Given the description of an element on the screen output the (x, y) to click on. 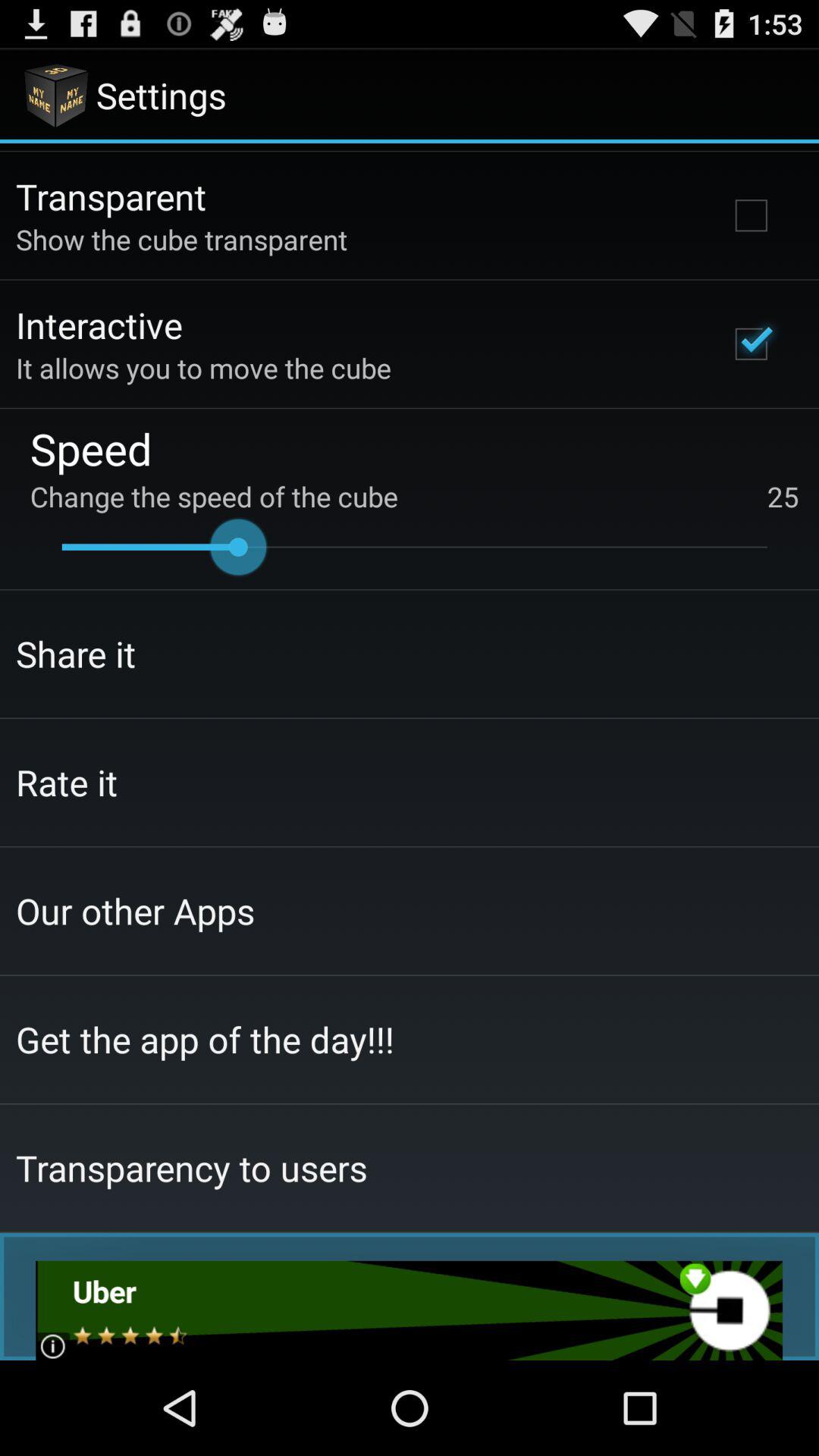
display advertisement campaigns (408, 1310)
